Given the description of an element on the screen output the (x, y) to click on. 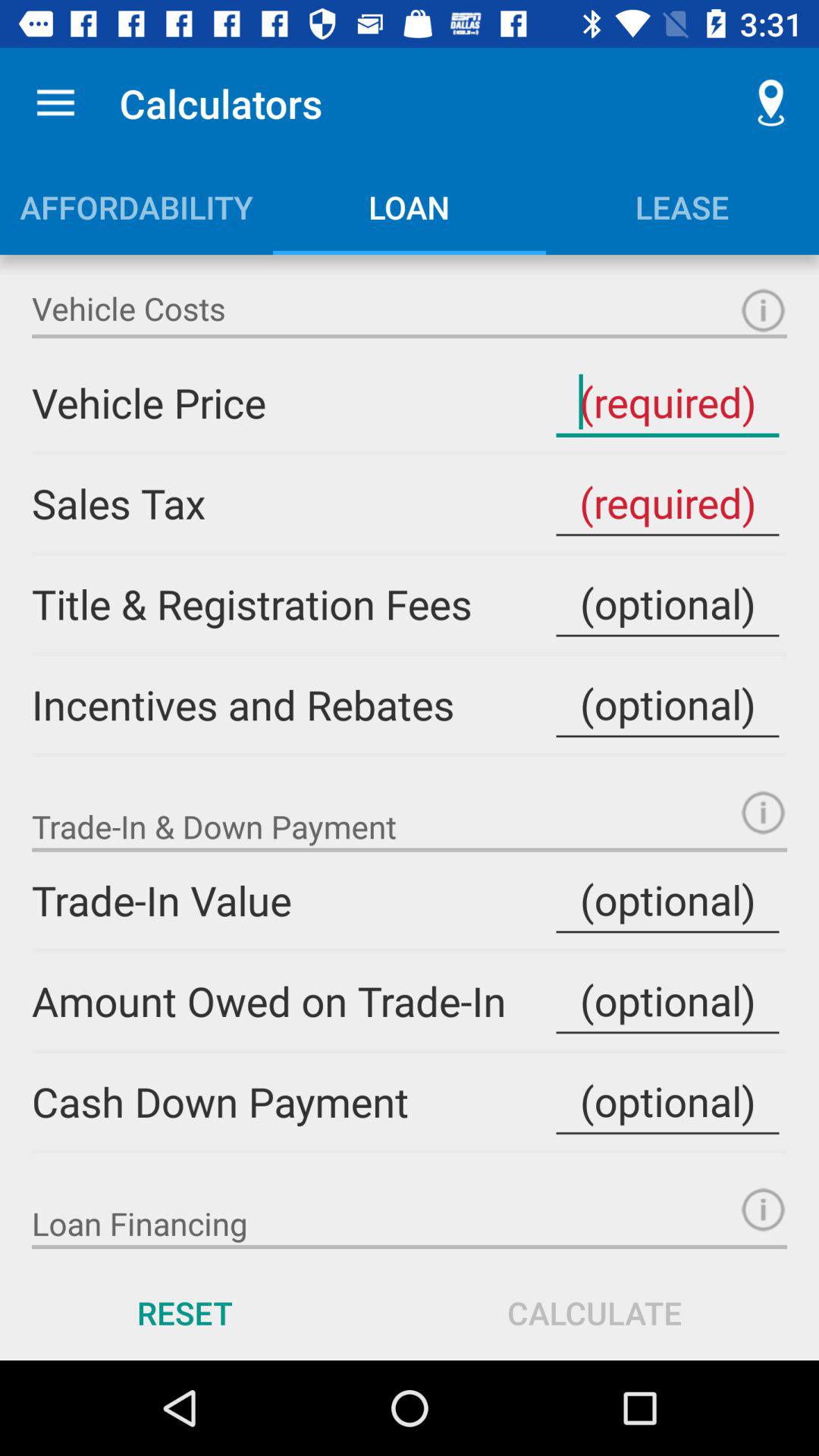
insert value (667, 1000)
